Given the description of an element on the screen output the (x, y) to click on. 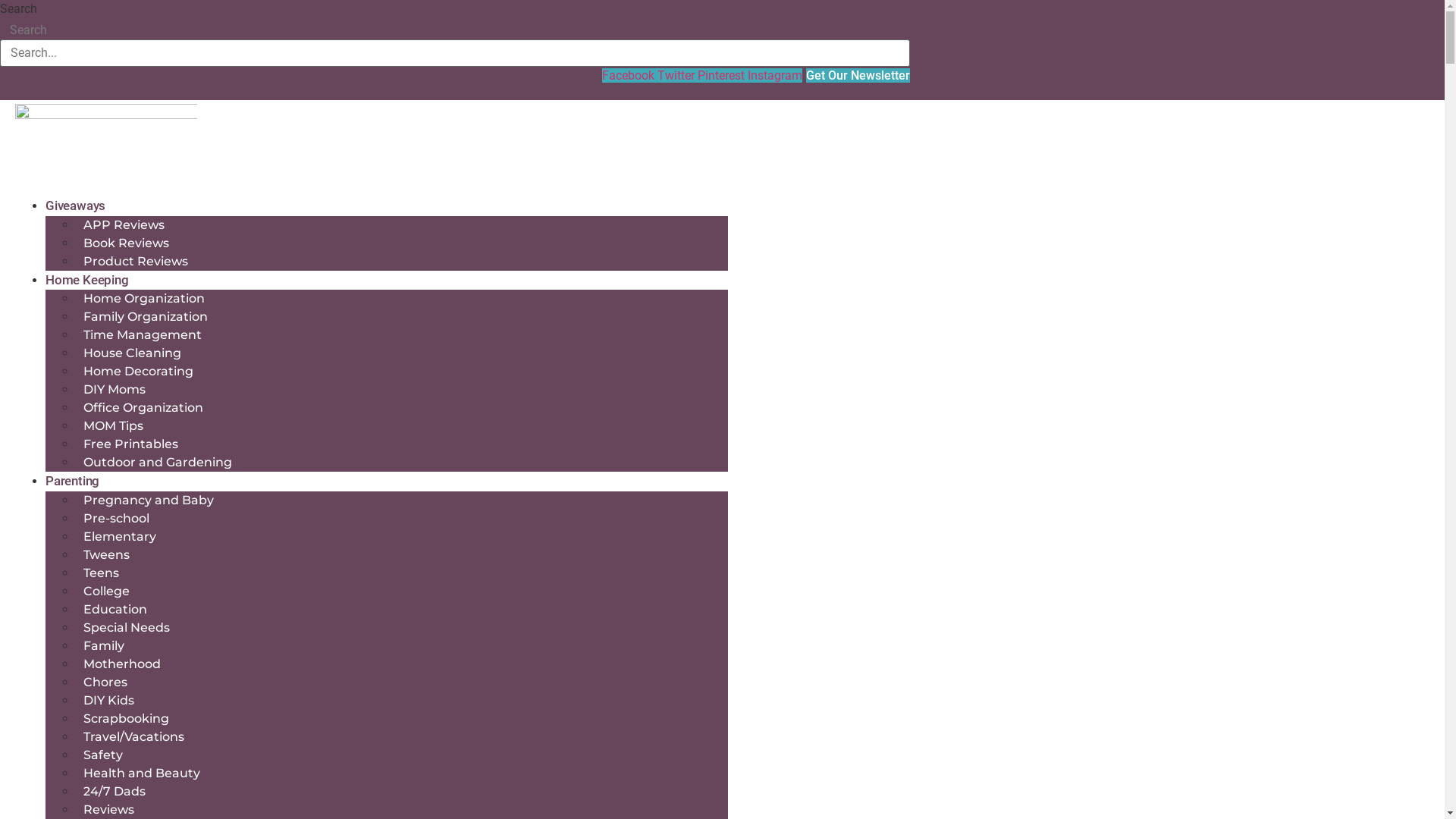
DIY Moms Element type: text (114, 389)
Twitter Element type: text (677, 75)
Get Our Newsletter Element type: text (858, 75)
Product Reviews Element type: text (135, 261)
Pre-school Element type: text (115, 518)
Giveaways Element type: text (75, 205)
Time Management Element type: text (142, 334)
Teens Element type: text (100, 572)
Pinterest Element type: text (722, 75)
Office Organization Element type: text (142, 407)
APP Reviews Element type: text (123, 224)
Scrapbooking Element type: text (125, 718)
Tweens Element type: text (106, 554)
Facebook Element type: text (629, 75)
Education Element type: text (114, 609)
Family Organization Element type: text (145, 316)
Outdoor and Gardening Element type: text (157, 461)
Health and Beauty Element type: text (141, 772)
Special Needs Element type: text (126, 627)
Safety Element type: text (102, 754)
Instagram Element type: text (774, 75)
Free Printables Element type: text (130, 443)
Book Reviews Element type: text (125, 242)
DIY Kids Element type: text (108, 700)
MOM Tips Element type: text (112, 425)
Chores Element type: text (104, 681)
College Element type: text (106, 590)
Travel/Vacations Element type: text (133, 736)
Motherhood Element type: text (121, 663)
Family Element type: text (103, 645)
Home Keeping Element type: text (86, 279)
Home Organization Element type: text (143, 298)
Pregnancy and Baby Element type: text (148, 499)
24/7 Dads Element type: text (114, 791)
Parenting Element type: text (72, 480)
Home Decorating Element type: text (137, 370)
House Cleaning Element type: text (131, 352)
Elementary Element type: text (119, 536)
